Given the description of an element on the screen output the (x, y) to click on. 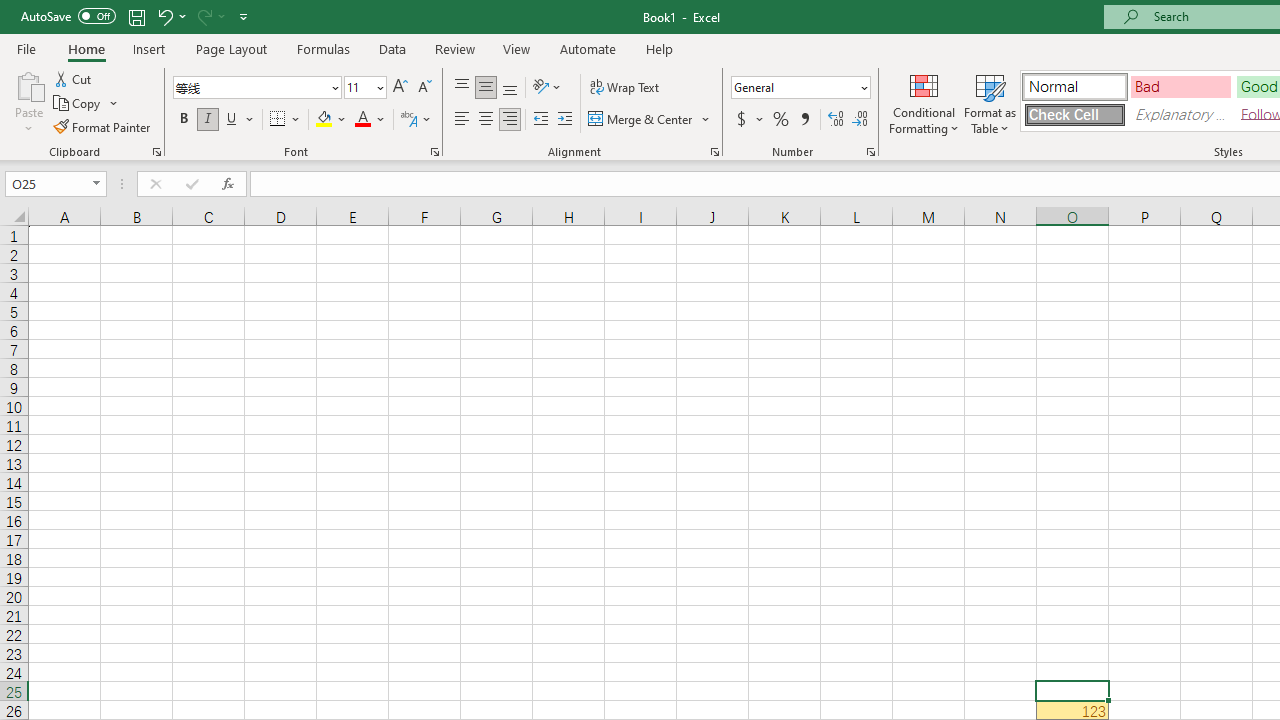
Format Cell Font (434, 151)
Top Align (461, 87)
Merge & Center (641, 119)
Accounting Number Format (741, 119)
Cut (73, 78)
Underline (232, 119)
Decrease Decimal (859, 119)
Show Phonetic Field (416, 119)
Font Size (358, 87)
